Given the description of an element on the screen output the (x, y) to click on. 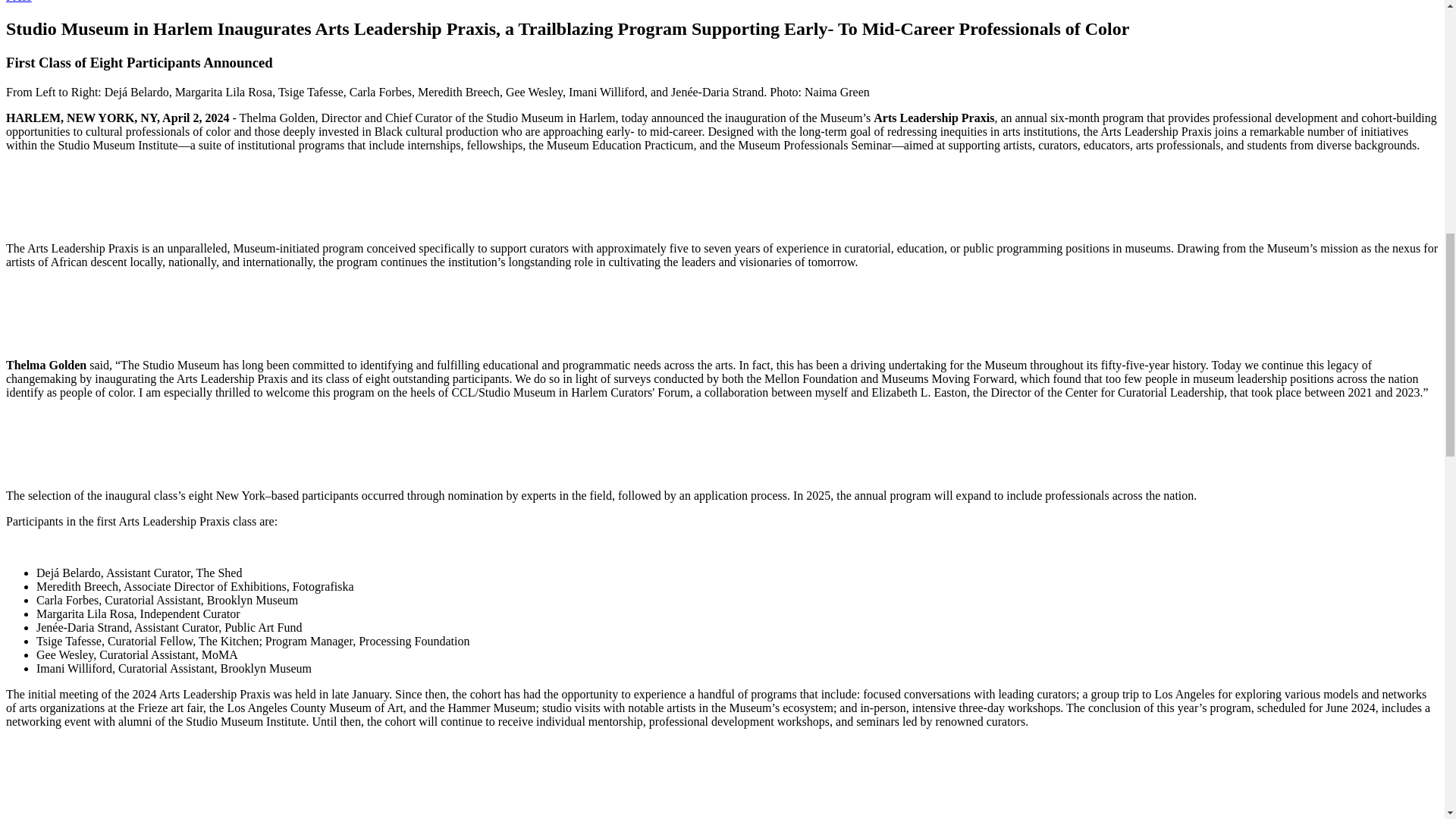
Press (18, 1)
